Given the description of an element on the screen output the (x, y) to click on. 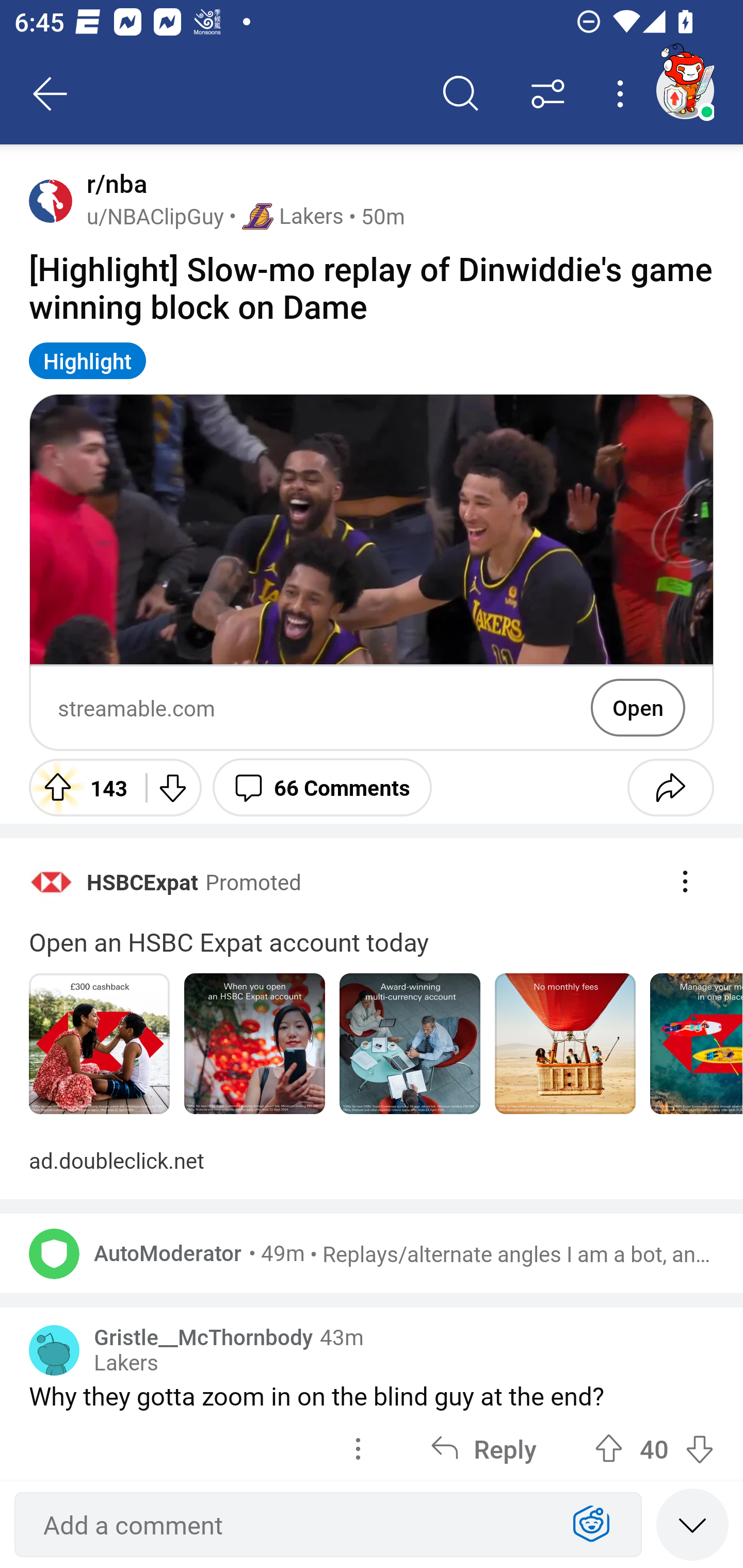
Back (50, 93)
TestAppium002 account (685, 90)
Search comments (460, 93)
Sort comments (547, 93)
More options (623, 93)
r/nba (113, 183)
Avatar (50, 200)
Highlight (87, 360)
Preview Image streamable.com Open (371, 572)
Open (637, 707)
Upvote 143 (79, 787)
Downvote (171, 787)
66 Comments (321, 787)
Share (670, 787)
Image 1 of 5.  (98, 1043)
Image 2 of 5.  (254, 1043)
Image 3 of 5.  (409, 1043)
Image 4 of 5.  (565, 1043)
Image 5 of 5.  (696, 1043)
Avatar (53, 1253)
Avatar (53, 1349)
Lakers (125, 1362)
options (358, 1446)
Reply (483, 1446)
Upvote 40 40 votes Downvote (654, 1446)
Speed read (692, 1524)
Add a comment (291, 1524)
Show Expressions (590, 1524)
